Given the description of an element on the screen output the (x, y) to click on. 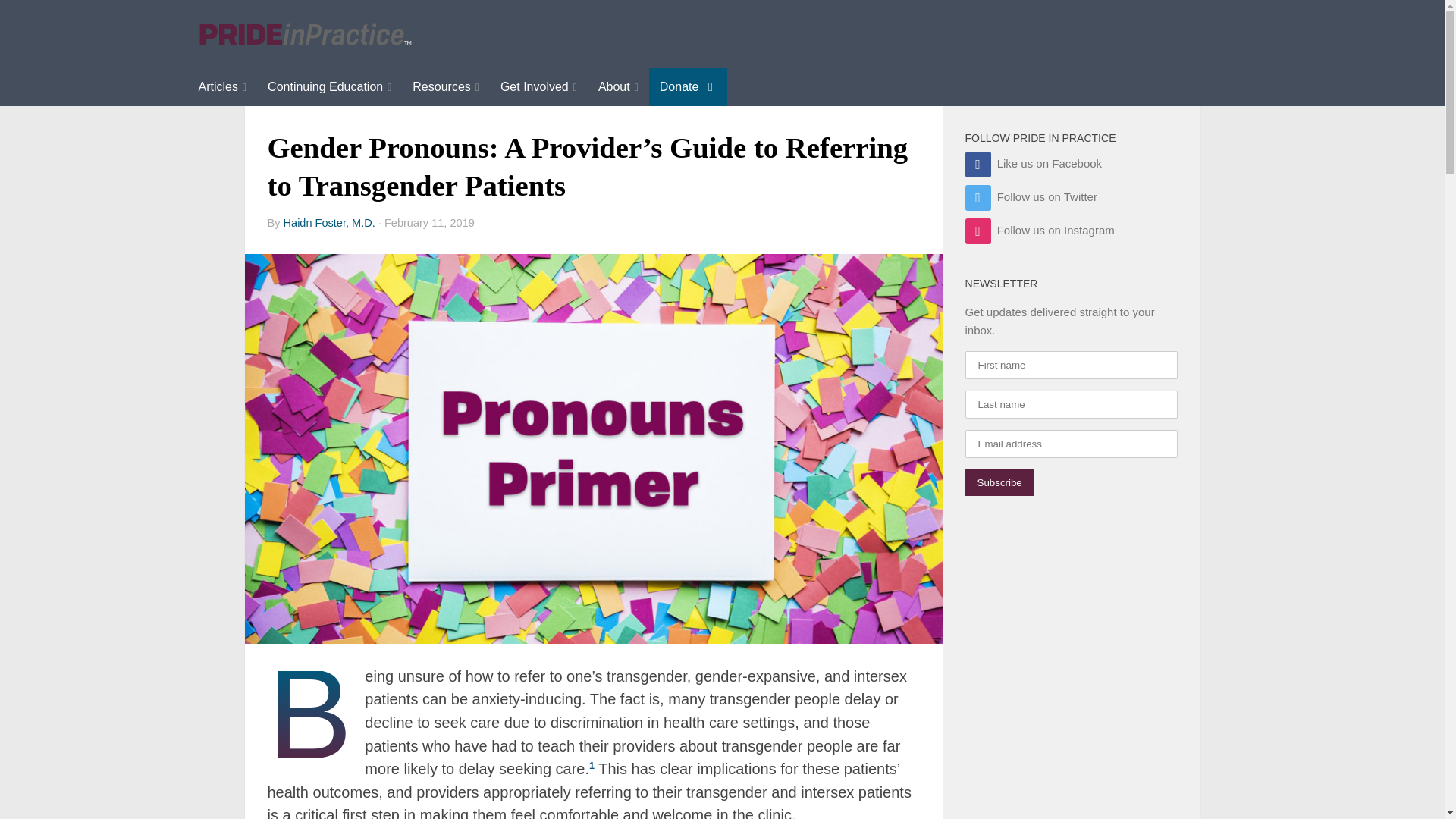
Subscribe (998, 482)
Posts by Haidn Foster, M.D. (329, 223)
Follow us on Instagram (1038, 229)
Like us on Facebook (1032, 163)
Follow us on Twitter (1029, 196)
